Given the description of an element on the screen output the (x, y) to click on. 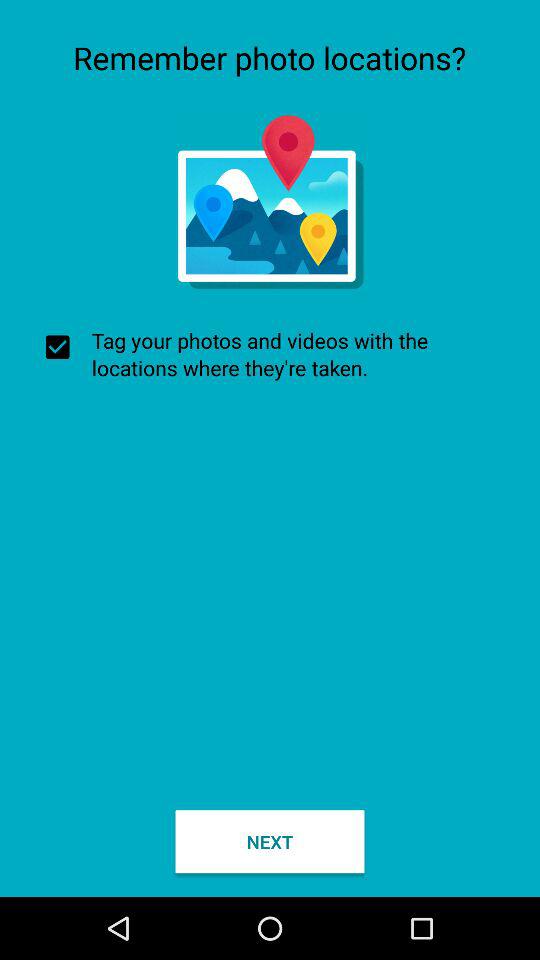
open the tag your photos (269, 354)
